Given the description of an element on the screen output the (x, y) to click on. 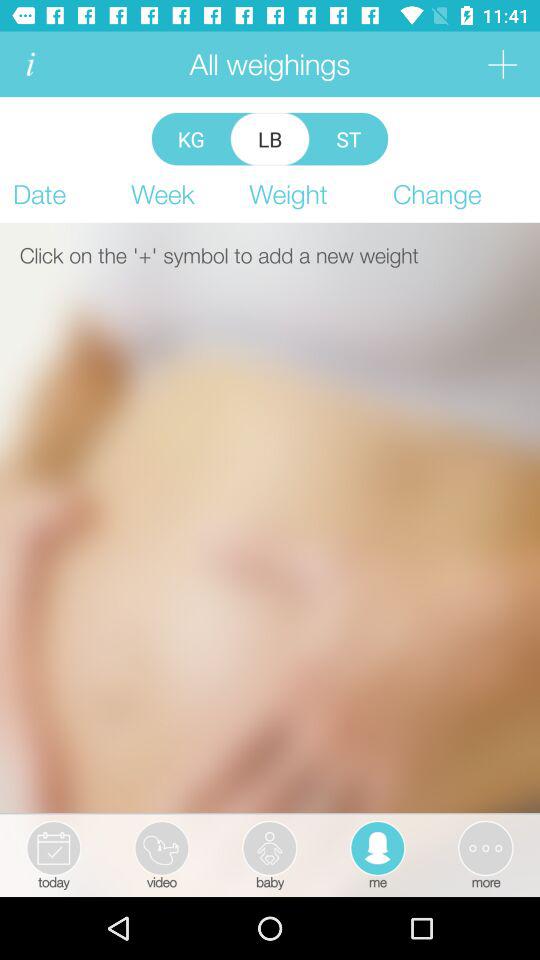
press the radio button to the left of lb radio button (190, 138)
